Given the description of an element on the screen output the (x, y) to click on. 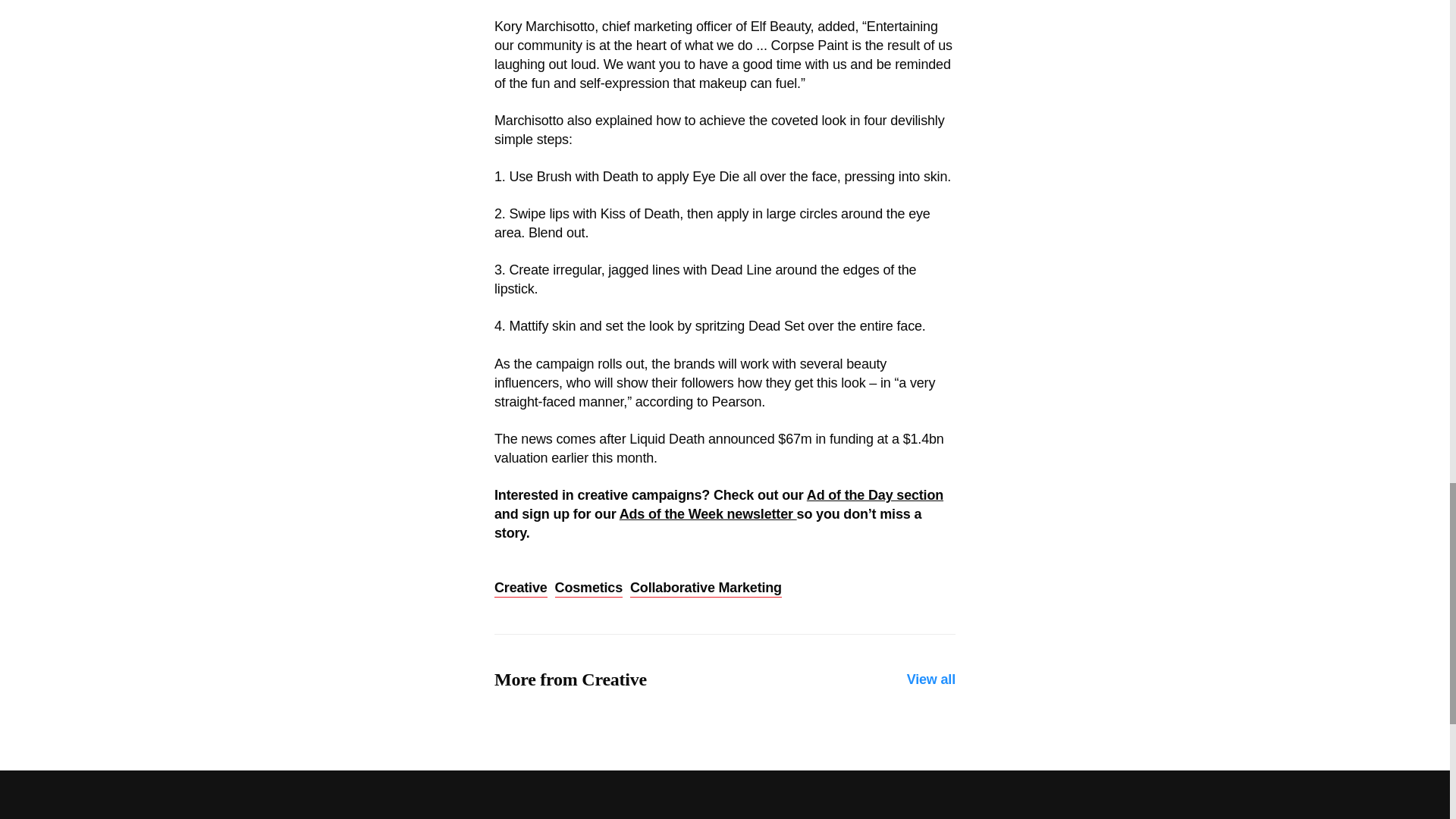
Ad of the Day section (874, 494)
Collaborative Marketing (705, 588)
View all (931, 679)
Ads of the Week newsletter (708, 513)
Creative (521, 588)
Cosmetics (588, 588)
